Given the description of an element on the screen output the (x, y) to click on. 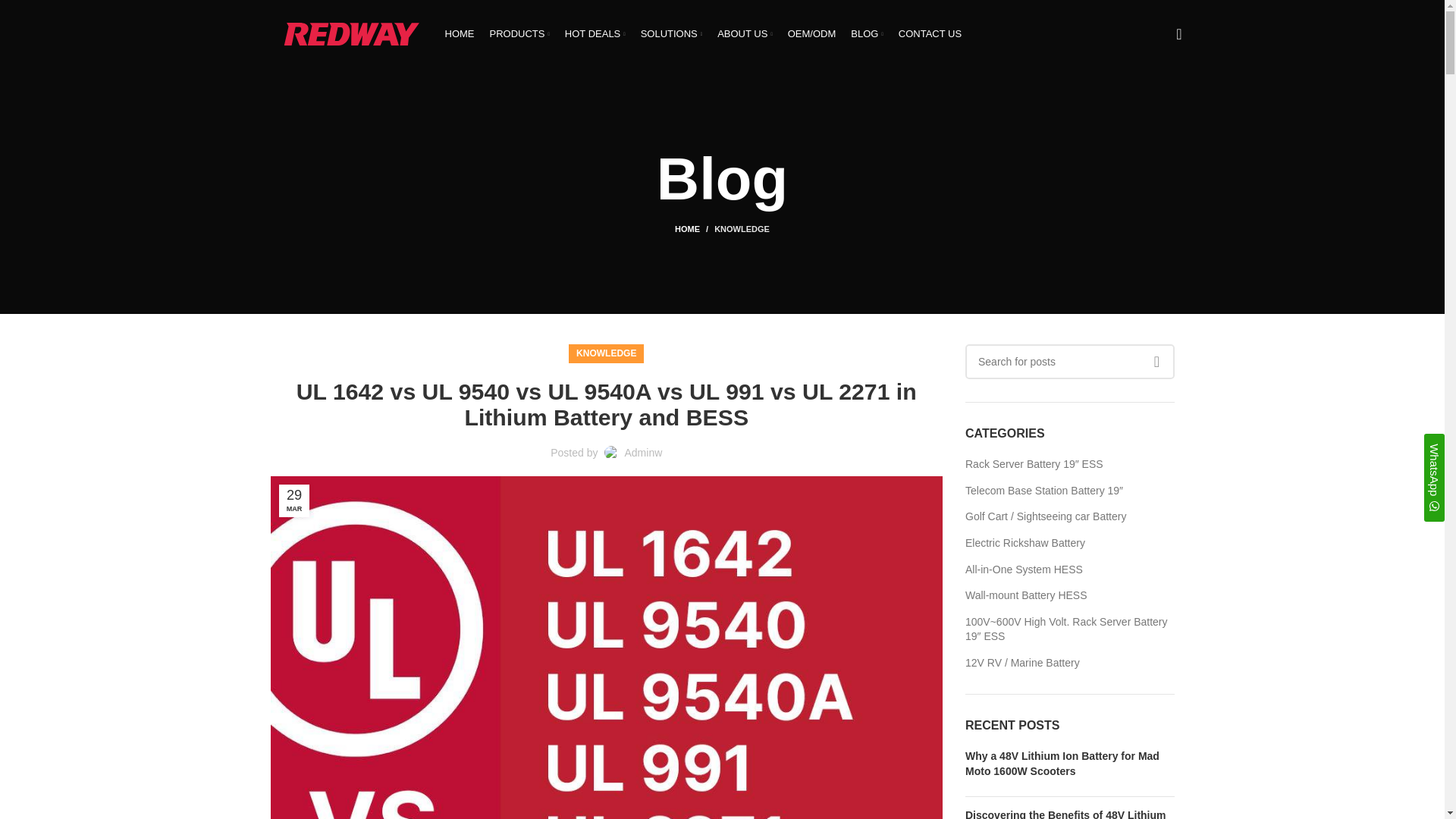
HOME (459, 33)
PRODUCTS (519, 33)
